Given the description of an element on the screen output the (x, y) to click on. 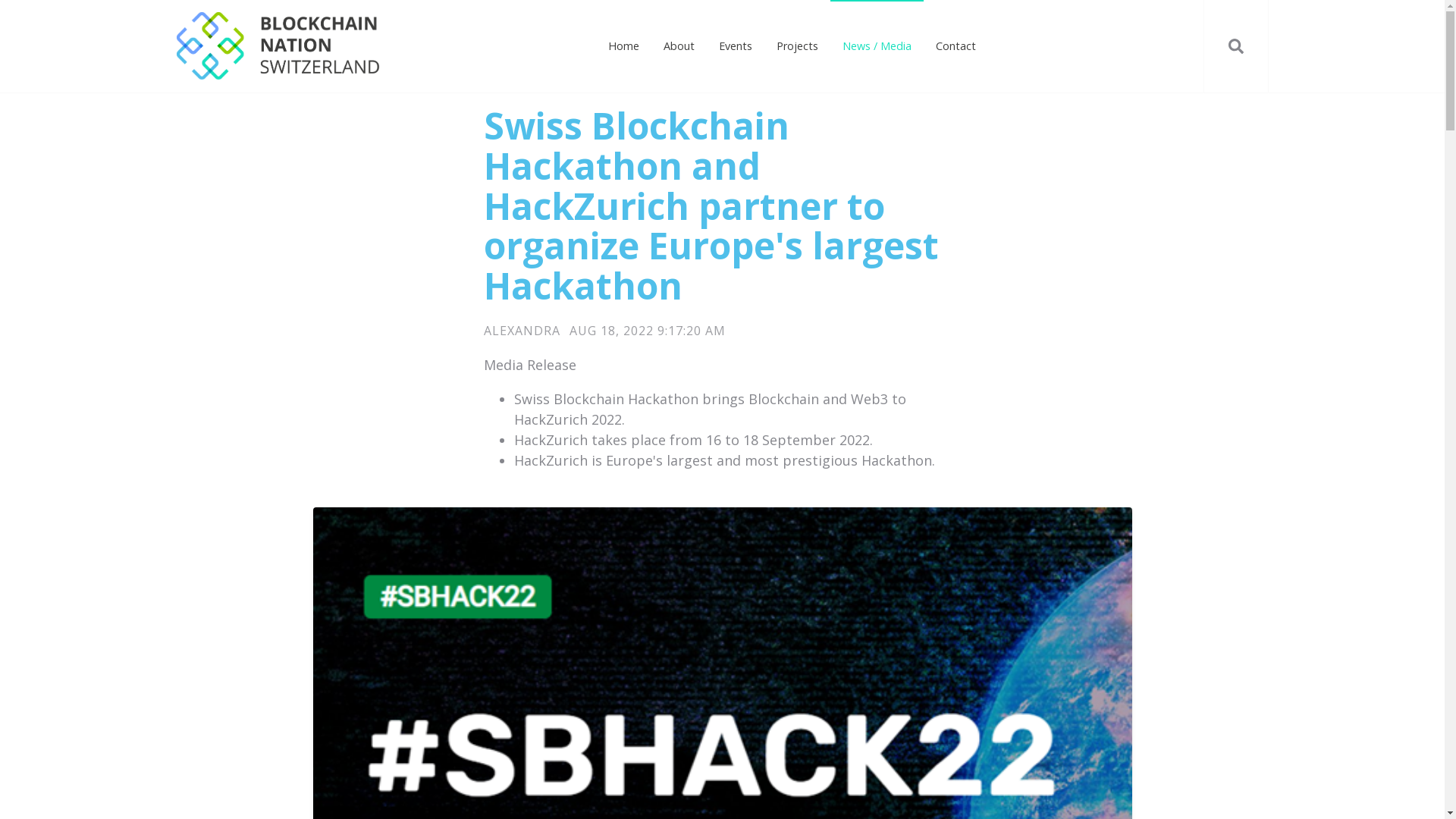
Projects Element type: text (797, 46)
News / Media Element type: text (876, 46)
ALEXANDRA Element type: text (521, 330)
Home Element type: text (623, 46)
About Element type: text (678, 46)
Contact Element type: text (955, 46)
Events Element type: text (735, 46)
